Given the description of an element on the screen output the (x, y) to click on. 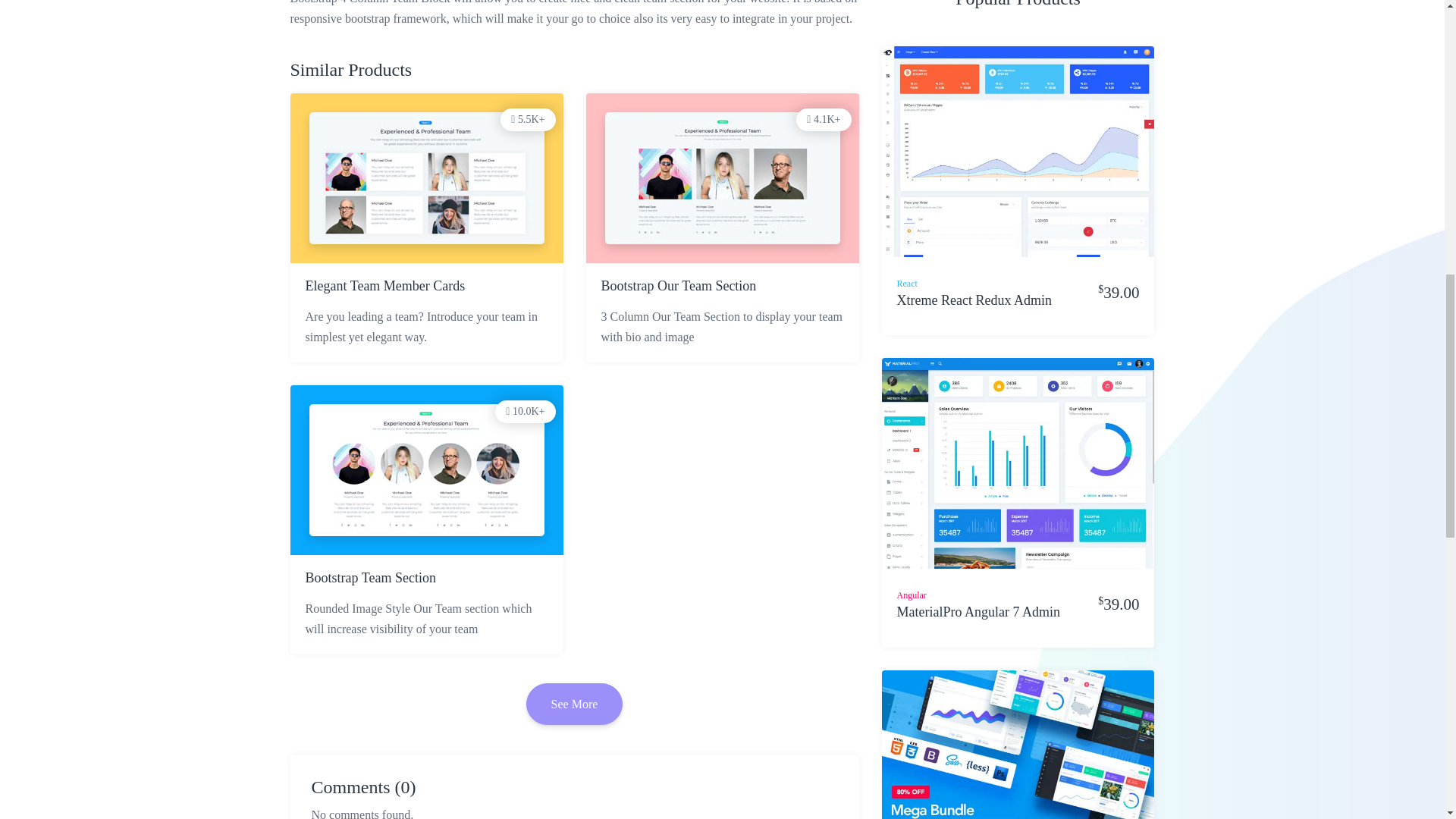
MaterialPro Angular 7 Admin (977, 621)
Elegant Team Member Cards (425, 286)
Xtreme React Redux Admin (973, 308)
Bootstrap Our Team Section (721, 286)
Bootstrap Team Section (425, 578)
See More (574, 703)
